Given the description of an element on the screen output the (x, y) to click on. 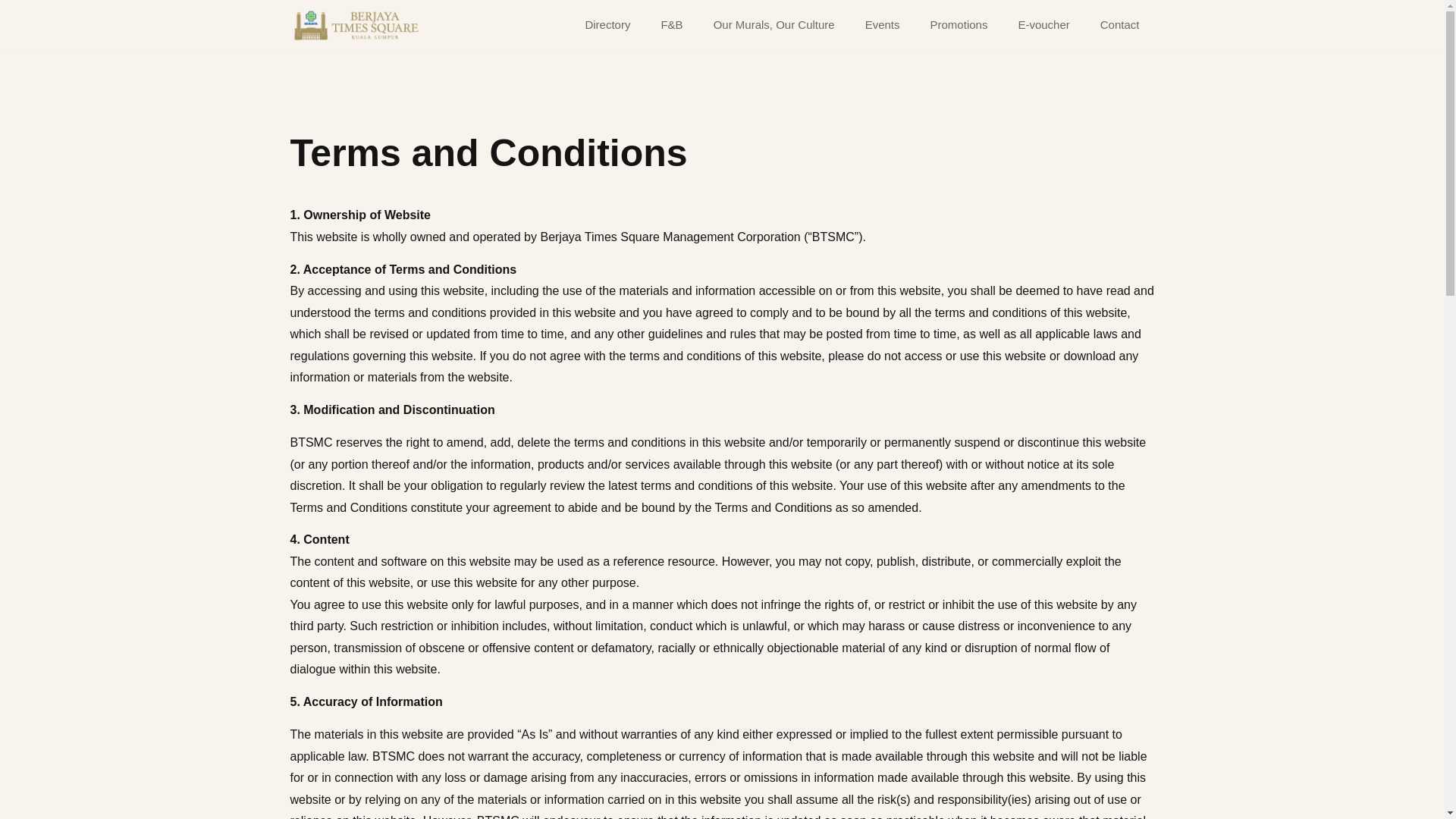
Events (882, 24)
Our Murals, Our Culture (774, 24)
Promotions (959, 24)
E-voucher (1043, 24)
Directory (607, 24)
Contact (1119, 24)
